Given the description of an element on the screen output the (x, y) to click on. 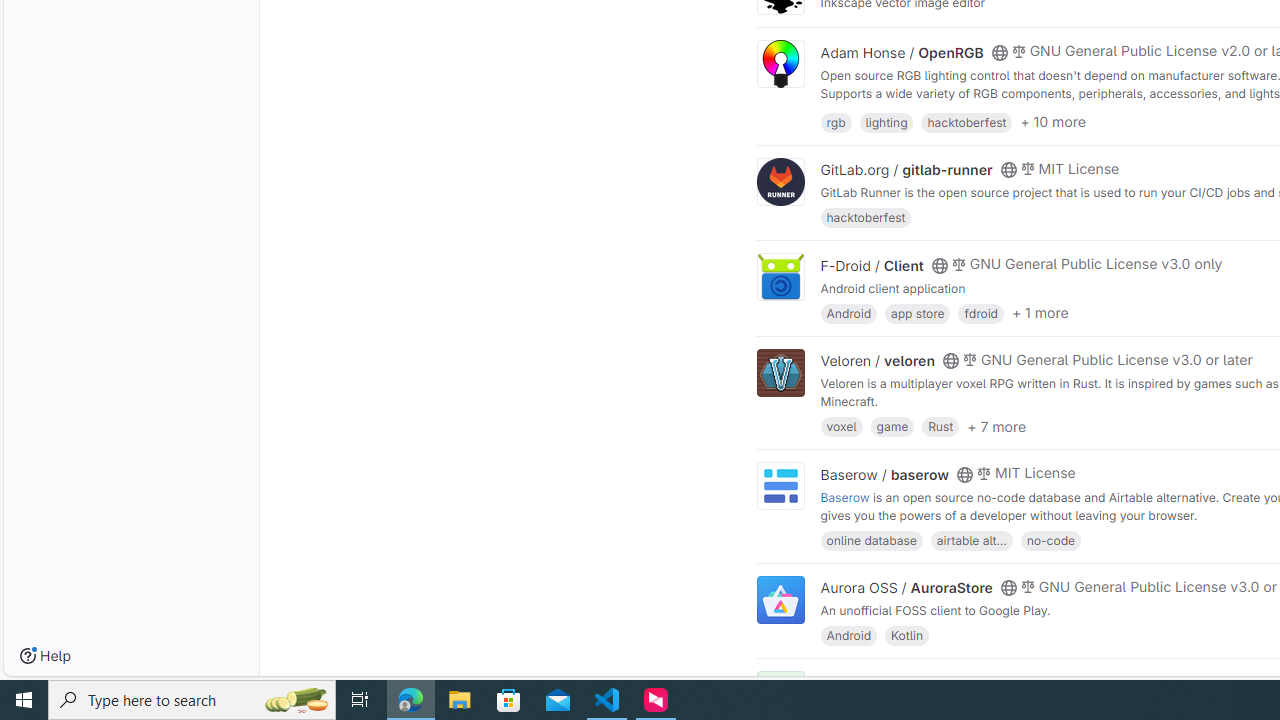
Baserow / baserow (884, 474)
game (892, 426)
Aurora OSS / AuroraStore (906, 587)
no-code (1050, 539)
Kotlin (907, 634)
lighting (886, 120)
Edouard Klein / falsisign (902, 682)
airtable alt... (971, 539)
GitLab.org / gitlab-runner (906, 170)
rgb (836, 120)
Class: project (780, 599)
+ 10 more (1053, 121)
+ 7 more (996, 425)
Android (848, 634)
voxel (841, 426)
